Given the description of an element on the screen output the (x, y) to click on. 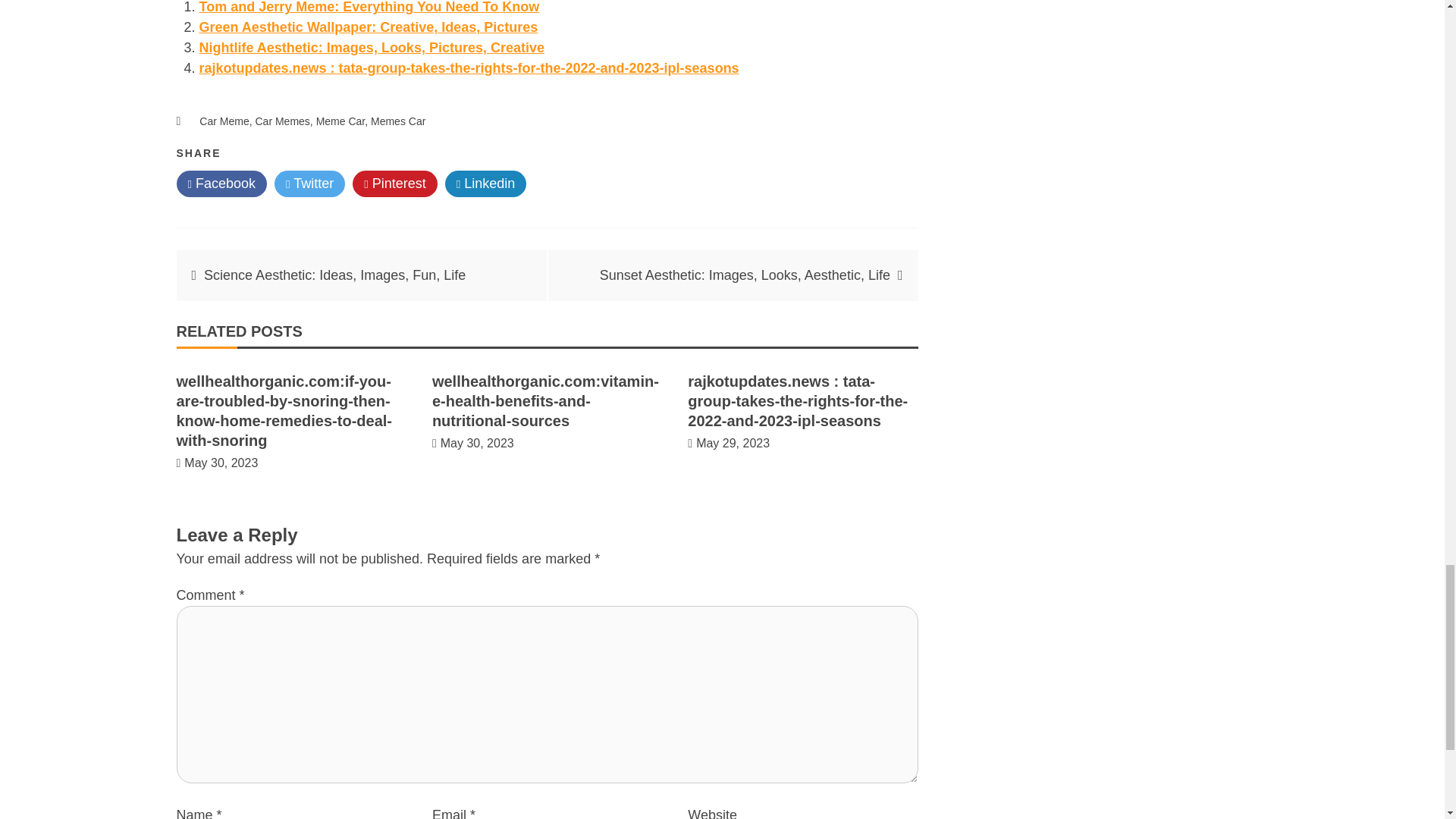
Car Meme (223, 121)
Linkedin (486, 183)
Nightlife Aesthetic: Images, Looks, Pictures, Creative (370, 47)
Facebook (221, 183)
May 30, 2023 (220, 462)
Twitter (310, 183)
Meme Car (340, 121)
Sunset Aesthetic: Images, Looks, Aesthetic, Life (744, 274)
Tom and Jerry Meme: Everything You Need To Know (368, 7)
Memes Car (398, 121)
Tom and Jerry Meme: Everything You Need To Know (368, 7)
Science Aesthetic: Ideas, Images, Fun, Life  (335, 274)
